Given the description of an element on the screen output the (x, y) to click on. 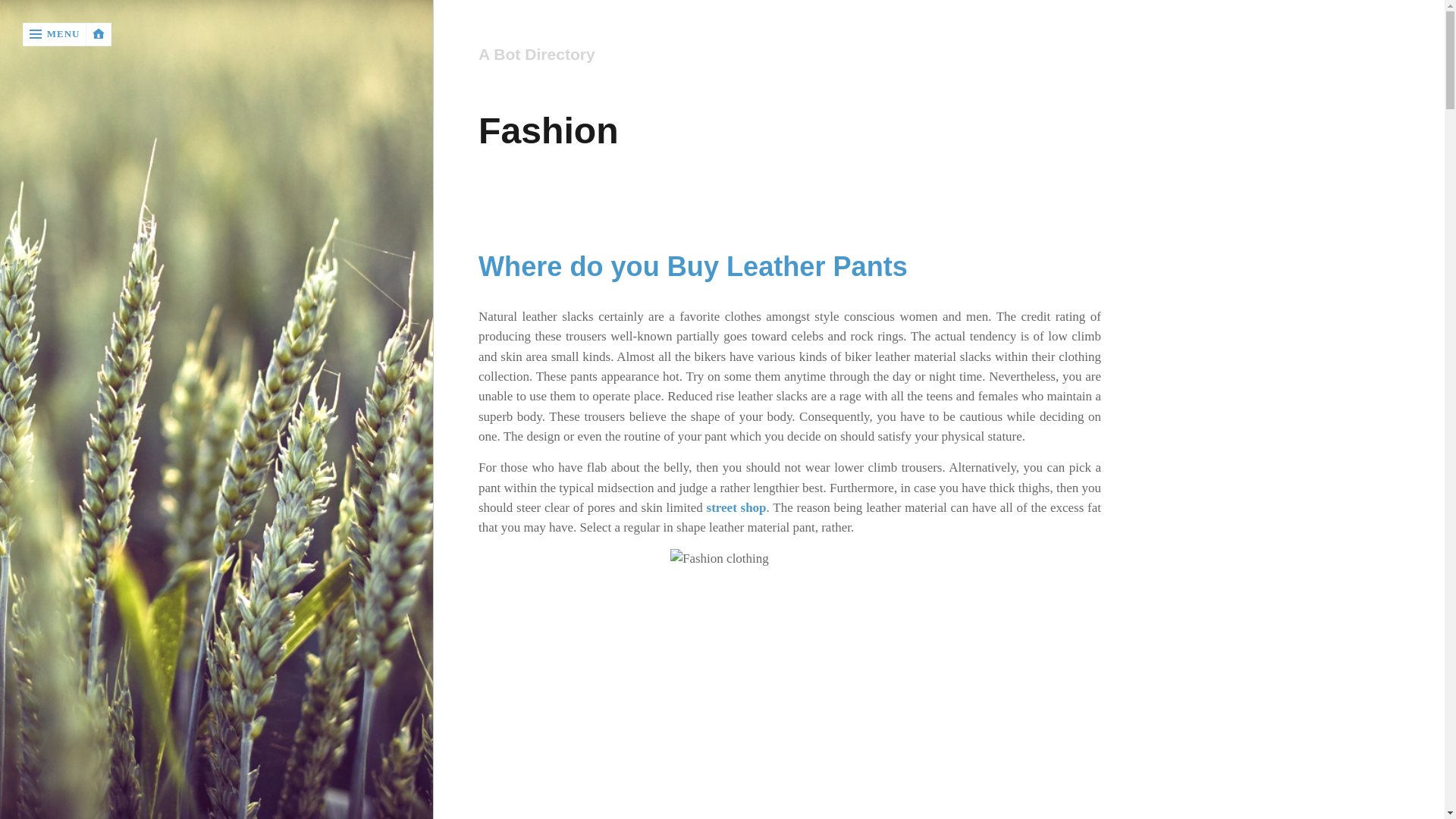
A Bot Directory (787, 54)
MENU (55, 33)
Permalink for: Where do you Buy Leather Pants (693, 265)
street shop (736, 507)
Home (789, 54)
Where do you Buy Leather Pants (693, 265)
